Given the description of an element on the screen output the (x, y) to click on. 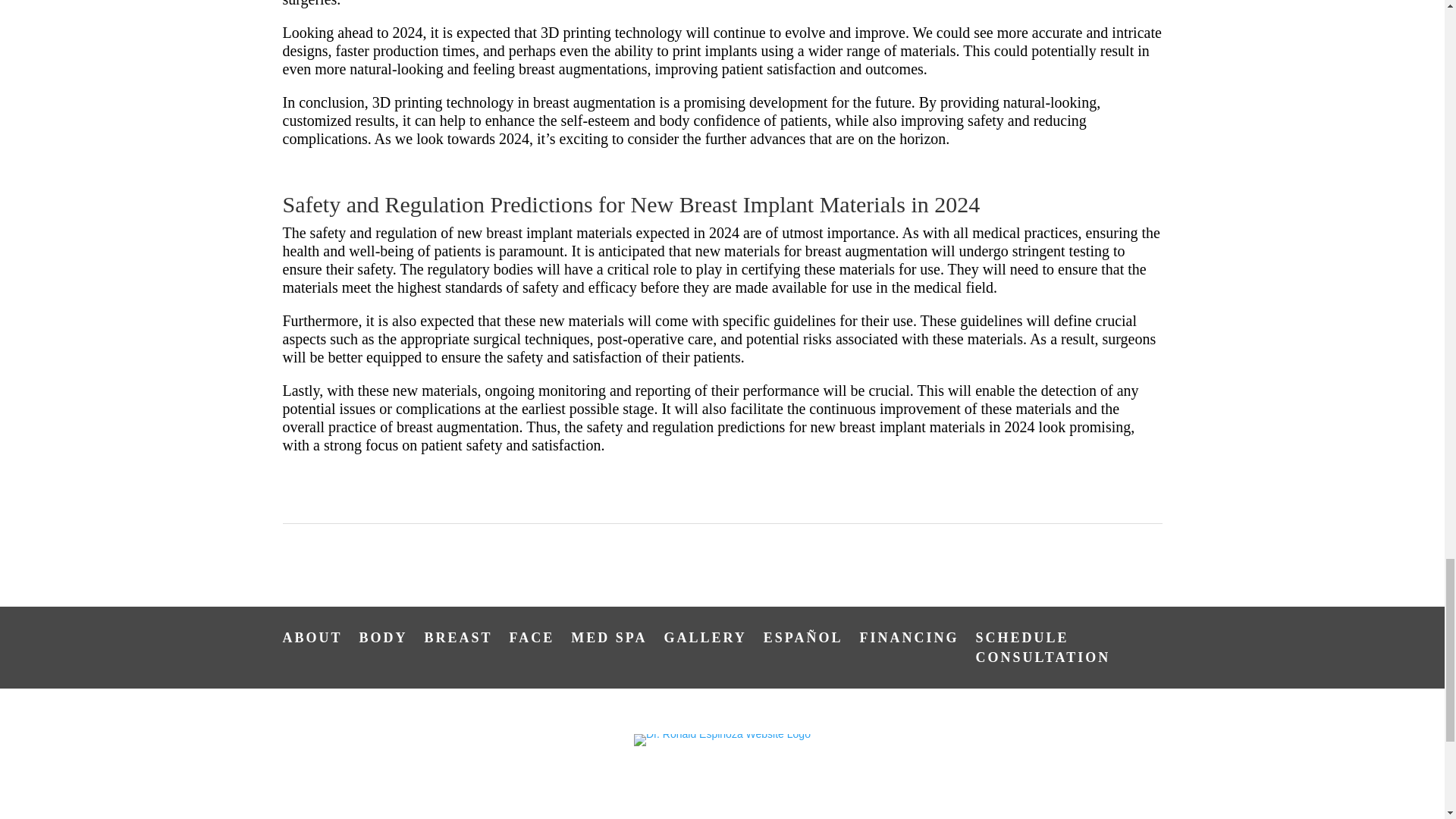
Dr. Ronald Espinoza Website Logo (721, 739)
